Given the description of an element on the screen output the (x, y) to click on. 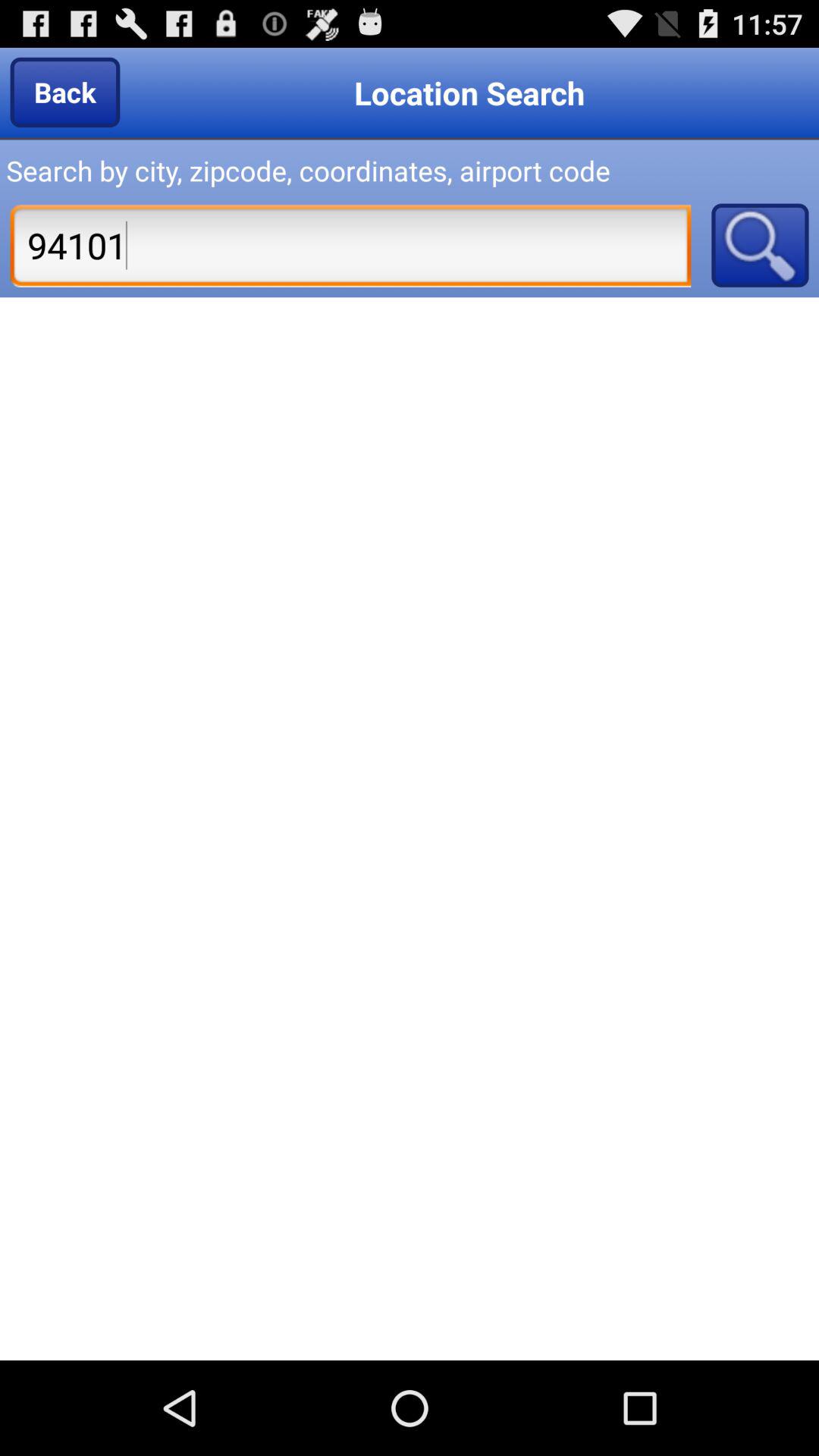
open icon next to the location search (65, 92)
